Given the description of an element on the screen output the (x, y) to click on. 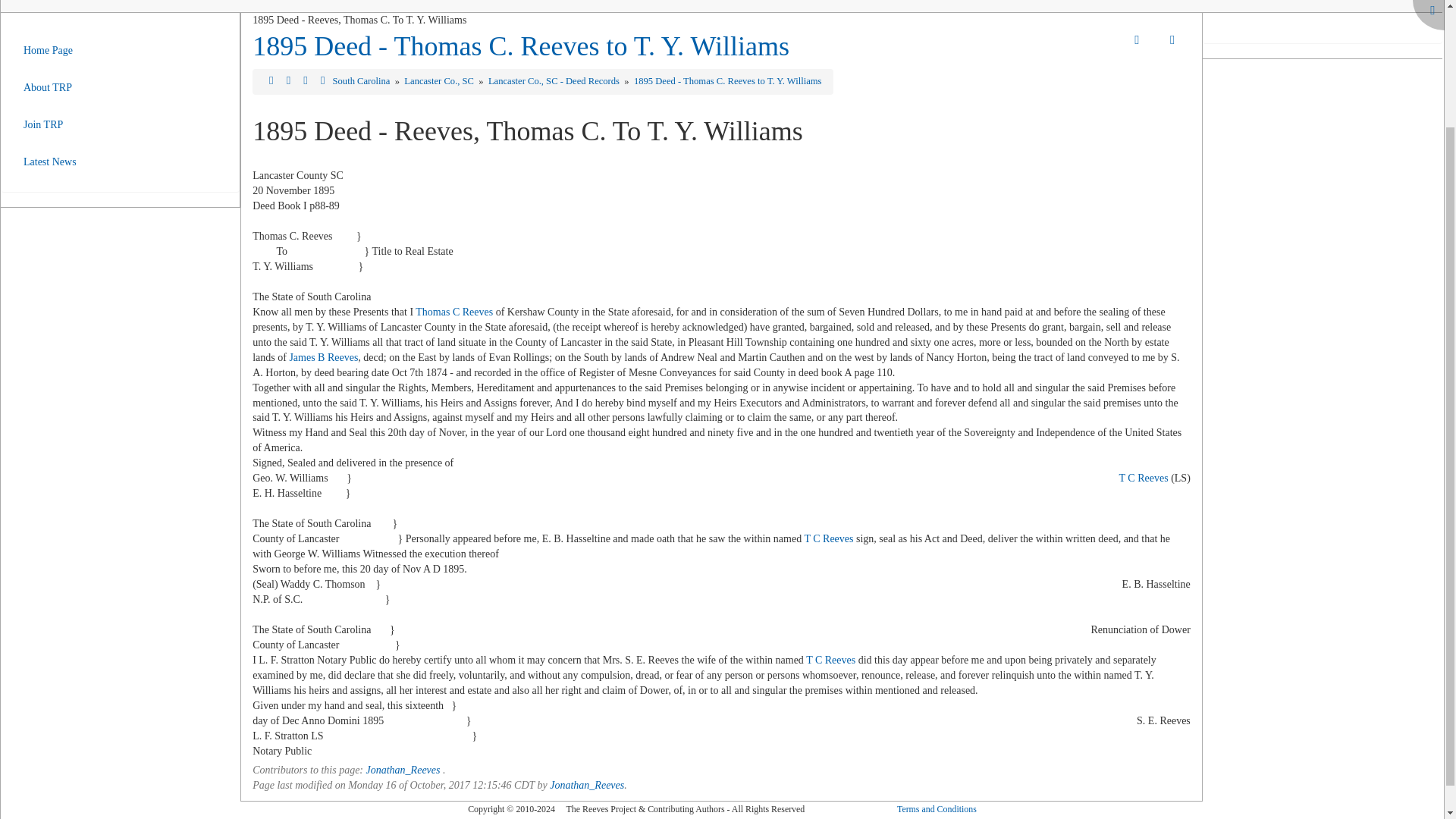
Terms and Conditions (936, 808)
Lancaster Co., SC - Deed Records (554, 81)
Latest News (49, 161)
Structure:South Carolina (270, 81)
1895 Deed - Thomas C. Reeves to T. Y. Williams (520, 46)
Home Page (49, 49)
Join TRP (49, 124)
About TRP (49, 87)
South Carolina (363, 81)
1895 Deed - Thomas C. Reeves to T. Y. Williams (727, 81)
